Given the description of an element on the screen output the (x, y) to click on. 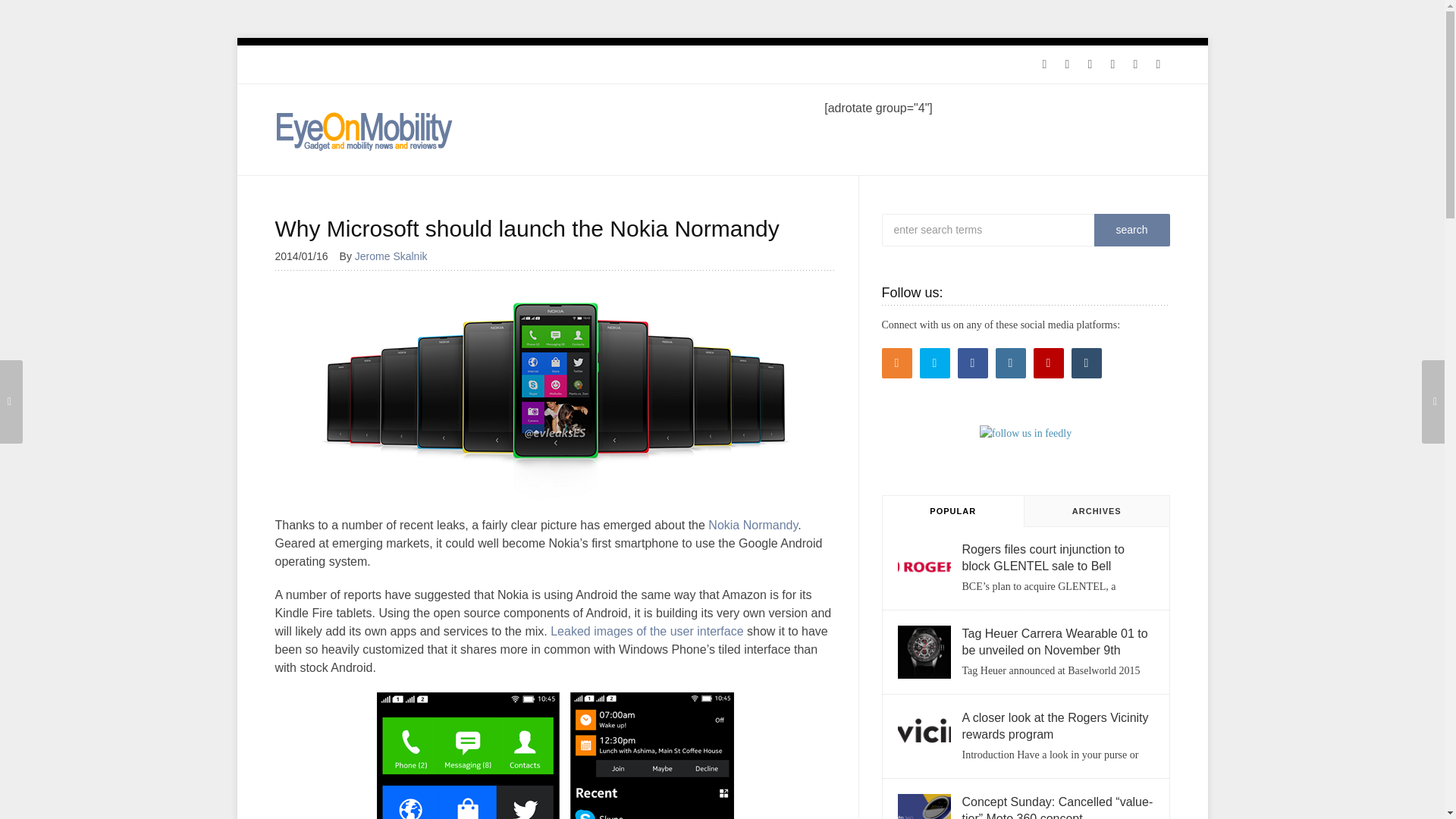
Jerome Skalnik (397, 256)
Search (1131, 229)
About Us (453, 64)
Search (1131, 229)
Leaked images of the user interface (646, 631)
New Nokia Normandy user interface images leaked (646, 631)
Reviews (346, 64)
Home (296, 64)
EyeOnMobility (363, 129)
Nokia Normandy (752, 524)
Guides (398, 64)
Search (1131, 229)
View all posts by Jerome Skalnik (397, 256)
